Given the description of an element on the screen output the (x, y) to click on. 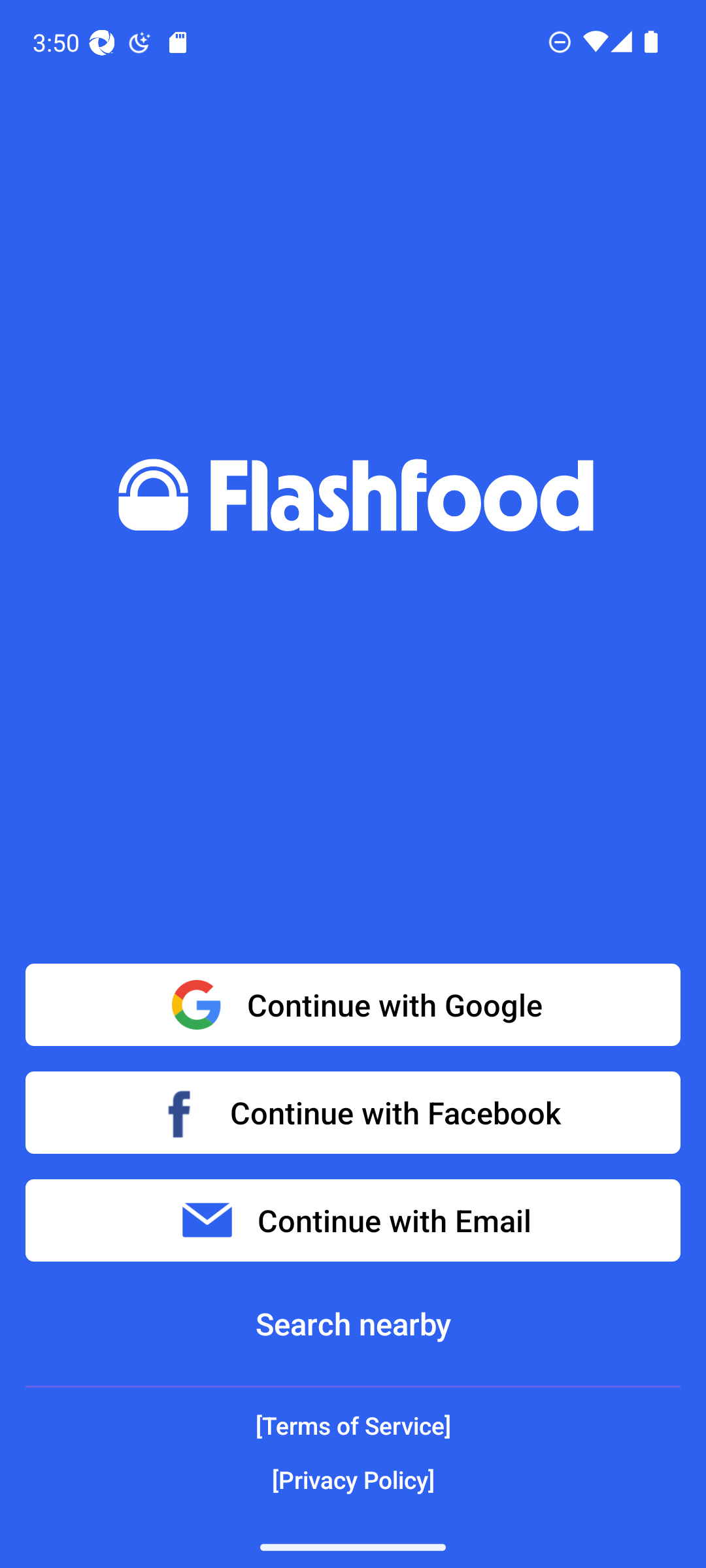
Continue with Google (352, 1004)
Continue with Facebook (352, 1112)
Continue with Email (352, 1220)
Search nearby (352, 1323)
[Terms of Service] (352, 1425)
[Privacy Policy] (352, 1478)
